Given the description of an element on the screen output the (x, y) to click on. 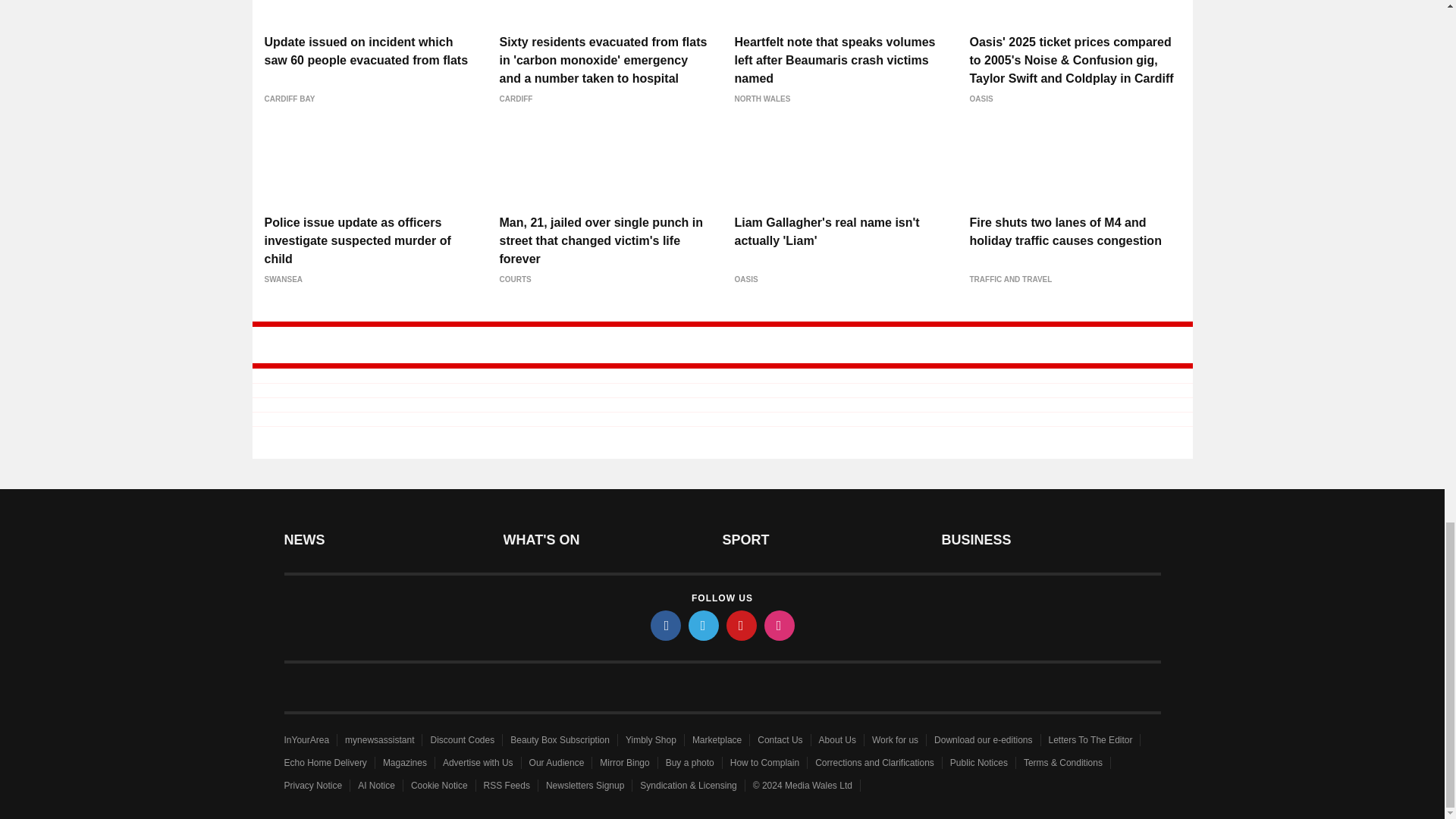
pinterest (741, 625)
instagram (779, 625)
facebook (665, 625)
twitter (703, 625)
